Given the description of an element on the screen output the (x, y) to click on. 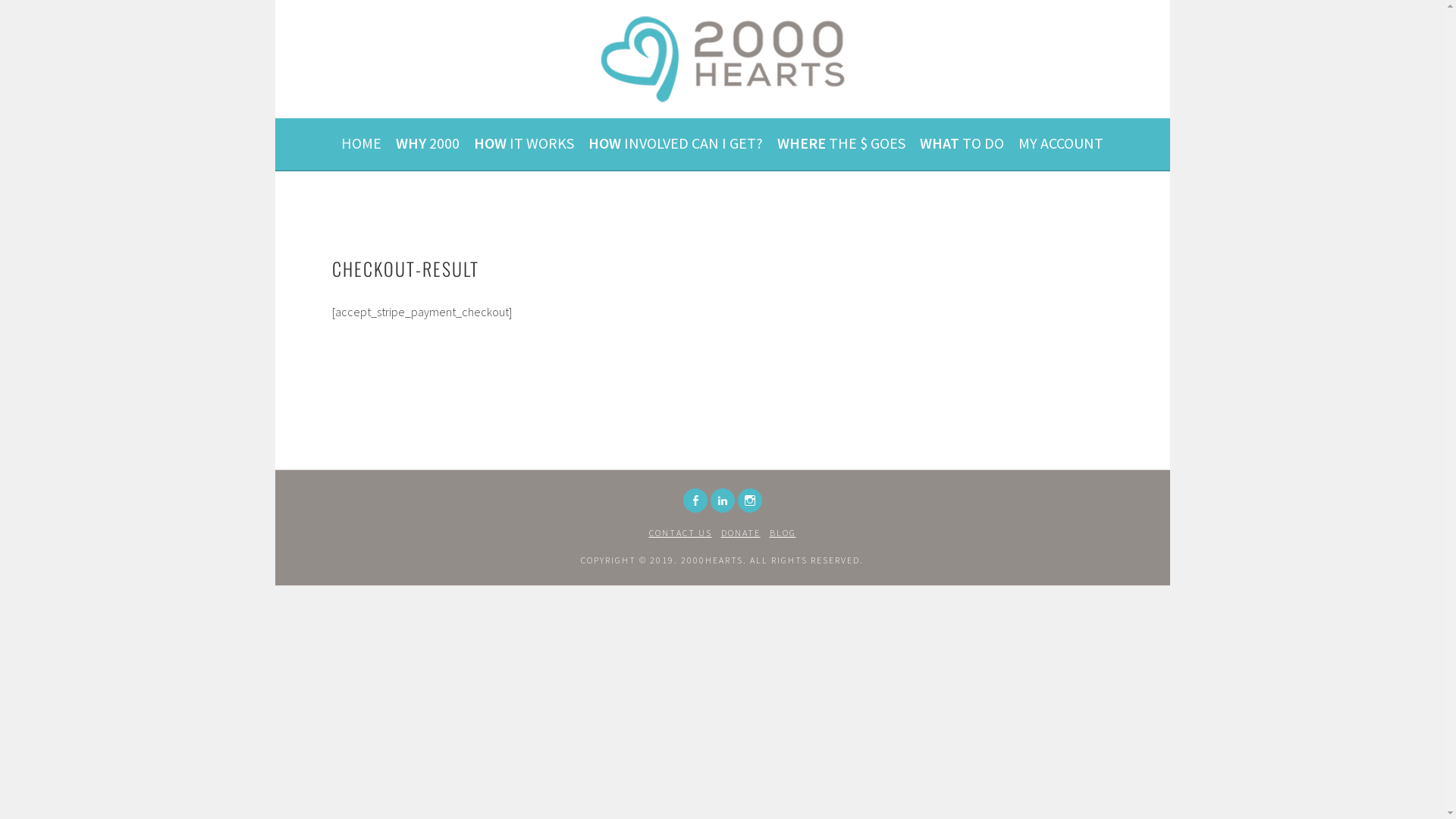
HOME Element type: text (361, 143)
2000 HEARTS Element type: text (393, 54)
HOW IT WORKS Element type: text (523, 143)
WHY 2000 Element type: text (427, 143)
LINKEDIN Element type: text (721, 500)
BLOG Element type: text (781, 532)
WHAT TO DO Element type: text (961, 143)
WHERE THE $ GOES Element type: text (841, 143)
CONTACT US Element type: text (680, 532)
FACEBOOK Element type: text (694, 500)
HOW INVOLVED CAN I GET? Element type: text (675, 143)
MY ACCOUNT Element type: text (1060, 143)
INSTA Element type: text (749, 500)
DONATE Element type: text (739, 532)
